Given the description of an element on the screen output the (x, y) to click on. 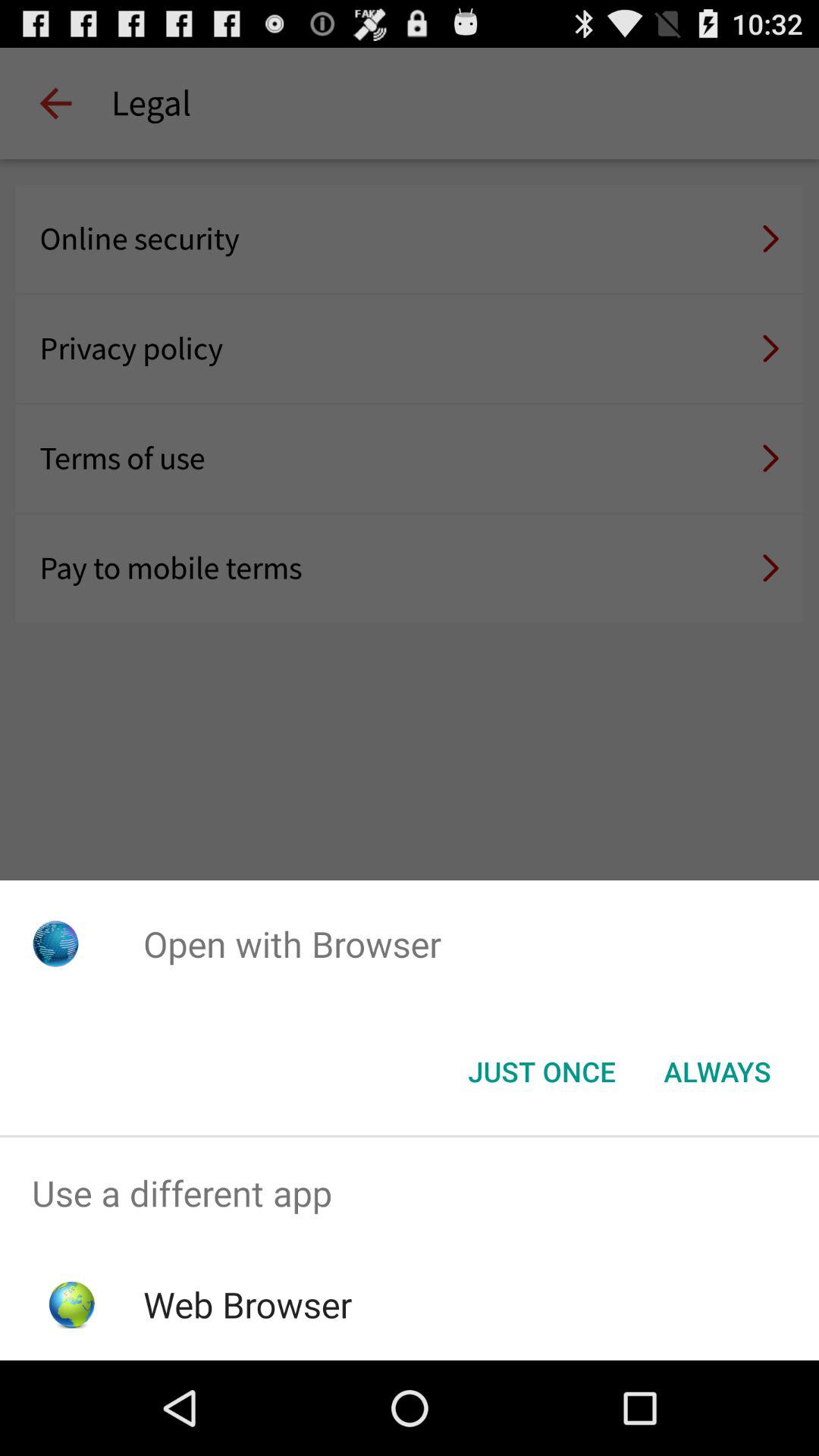
launch just once icon (541, 1071)
